Given the description of an element on the screen output the (x, y) to click on. 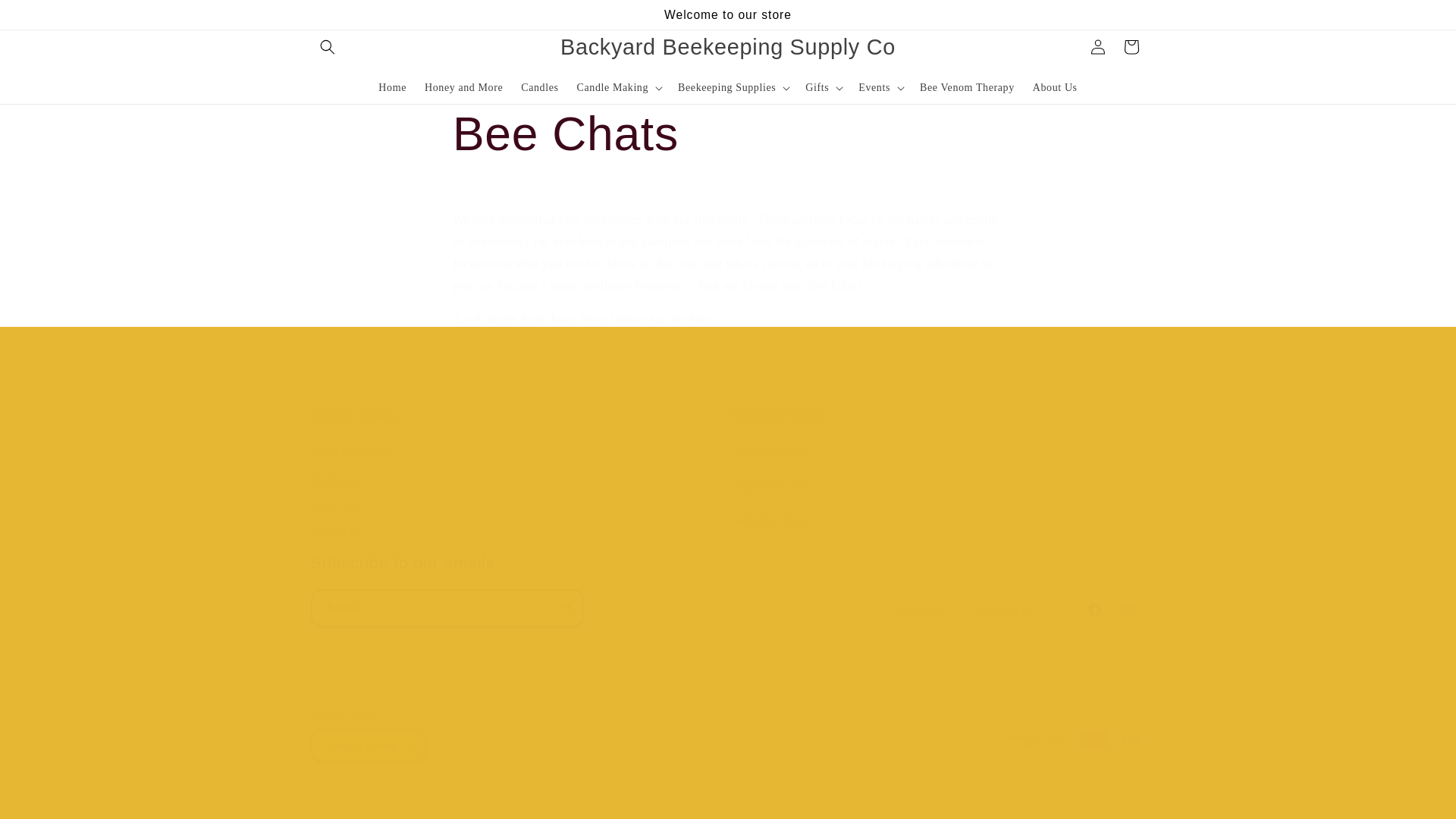
Honey and More (463, 88)
Bee Chats (727, 589)
Home (727, 133)
Backyard Beekeeping Supply Co (517, 475)
Skip to content (391, 88)
